Given the description of an element on the screen output the (x, y) to click on. 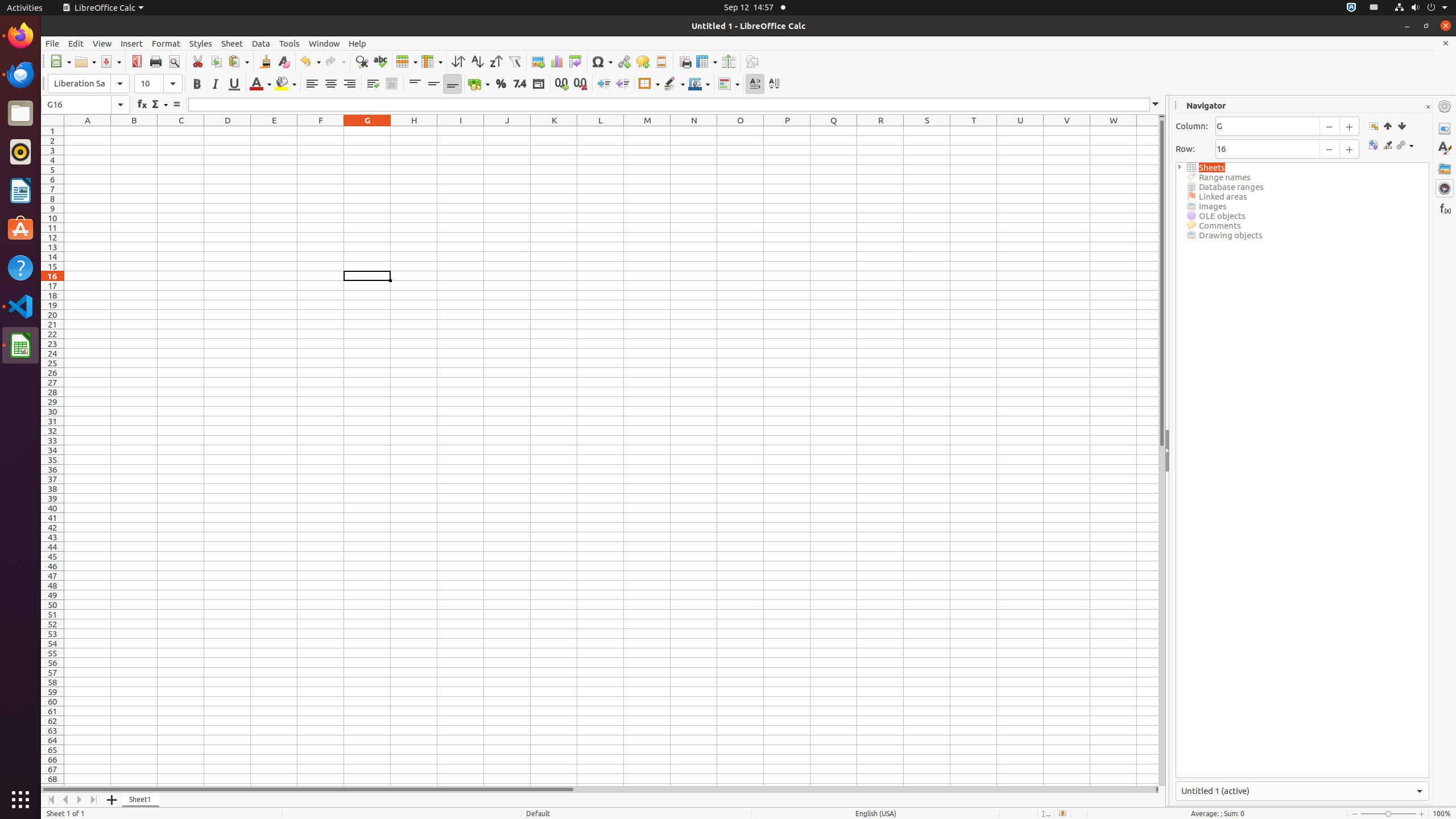
Split Window Element type: push-button (727, 61)
Sheet1 Element type: page-tab (140, 799)
P1 Element type: table-cell (786, 130)
Bold Element type: toggle-button (196, 83)
U1 Element type: table-cell (1020, 130)
